Given the description of an element on the screen output the (x, y) to click on. 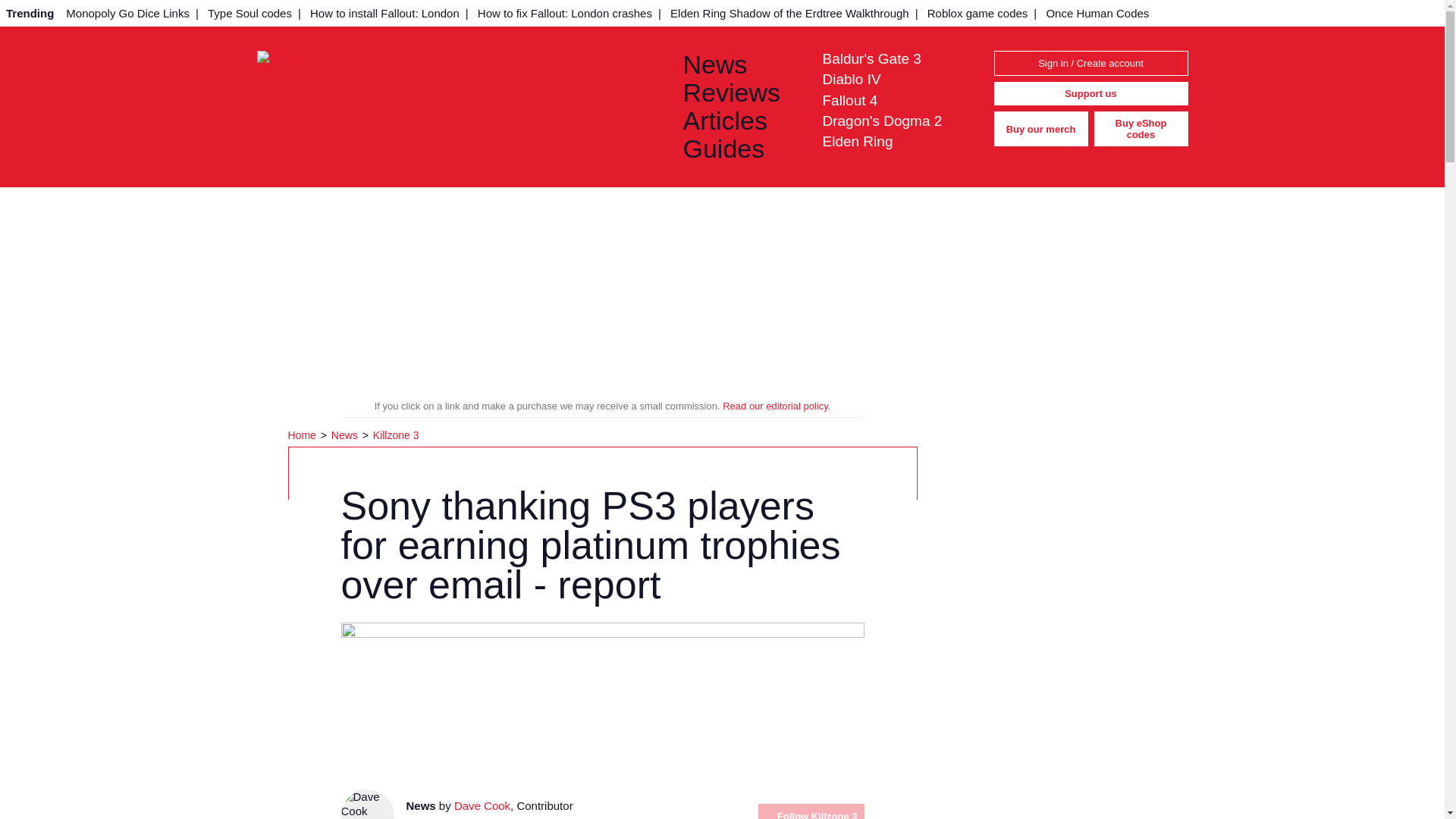
Elden Ring (857, 141)
Support us (1090, 93)
Diablo IV (851, 78)
Read our editorial policy (775, 405)
Follow Killzone 3 (810, 811)
How to install Fallout: London (384, 13)
Guides (739, 148)
News (346, 435)
News (739, 64)
Articles (739, 121)
Monopoly Go Dice Links (127, 13)
Reviews (739, 92)
Fallout 4 (849, 100)
Roblox game codes (977, 13)
Type Soul codes (250, 13)
